Given the description of an element on the screen output the (x, y) to click on. 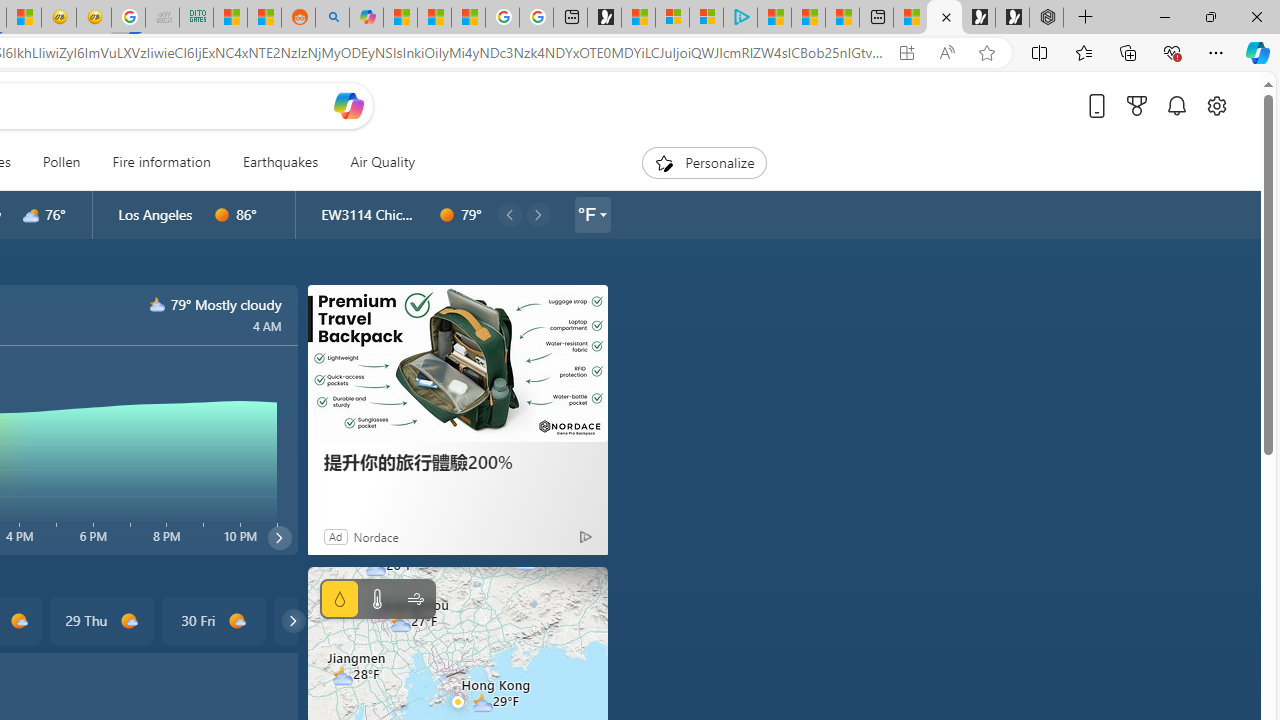
d0000 (447, 215)
Air Quality (382, 162)
Temperature (376, 599)
29 Thu d1000 (100, 620)
Earthquakes (280, 162)
